Given the description of an element on the screen output the (x, y) to click on. 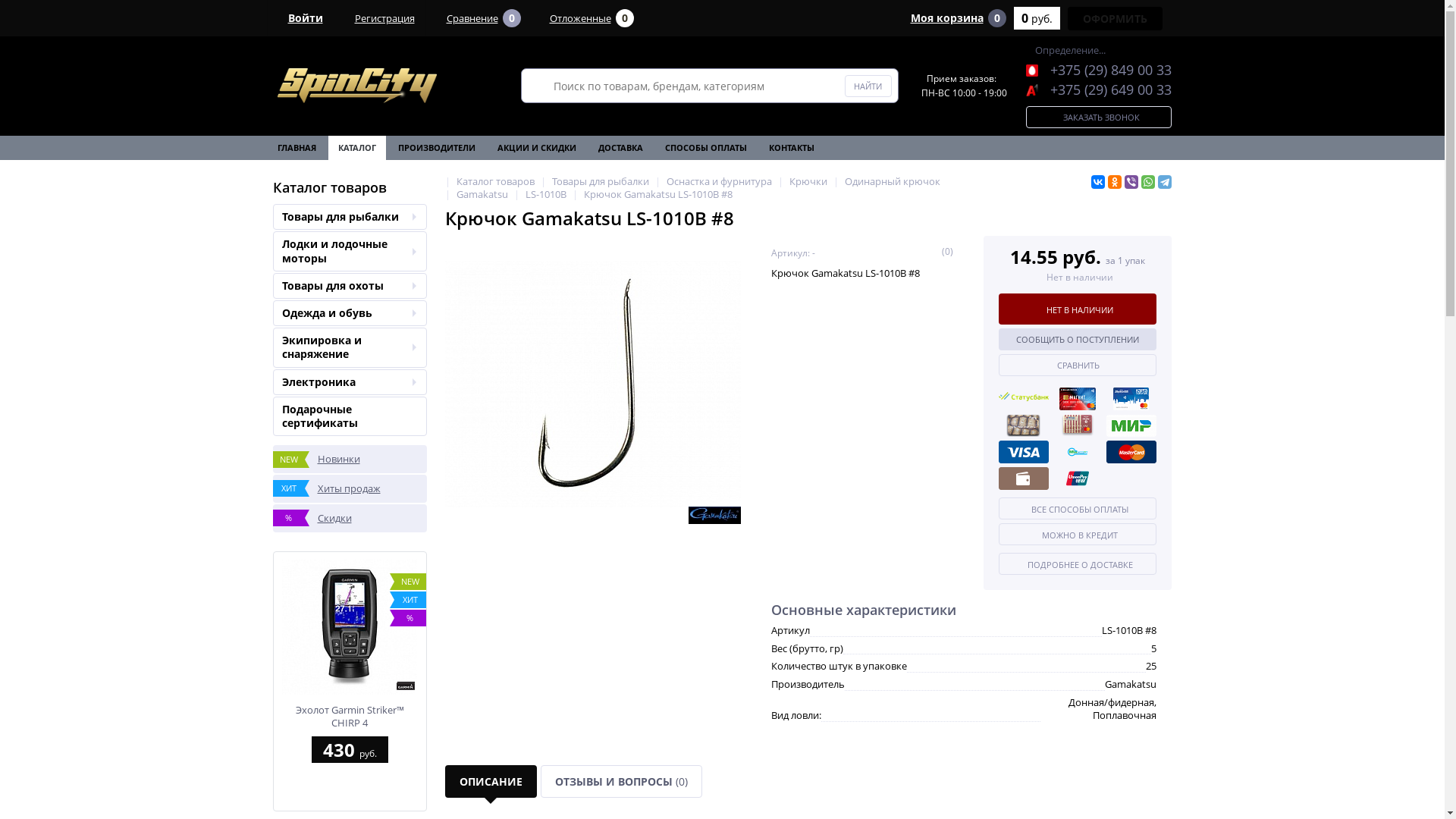
Garmin Element type: hover (404, 686)
MIRAccept Element type: hover (1077, 451)
Gamakatsu Element type: hover (714, 515)
UnionPay Element type: hover (1077, 478)
VISA Element type: hover (1022, 451)
LS-1010B Element type: text (544, 193)
Telegram Element type: hover (1163, 181)
Gamakatsu Element type: text (482, 193)
Viber Element type: hover (1130, 181)
WhatsApp Element type: hover (1147, 181)
MasterCard Element type: hover (1130, 451)
